Given the description of an element on the screen output the (x, y) to click on. 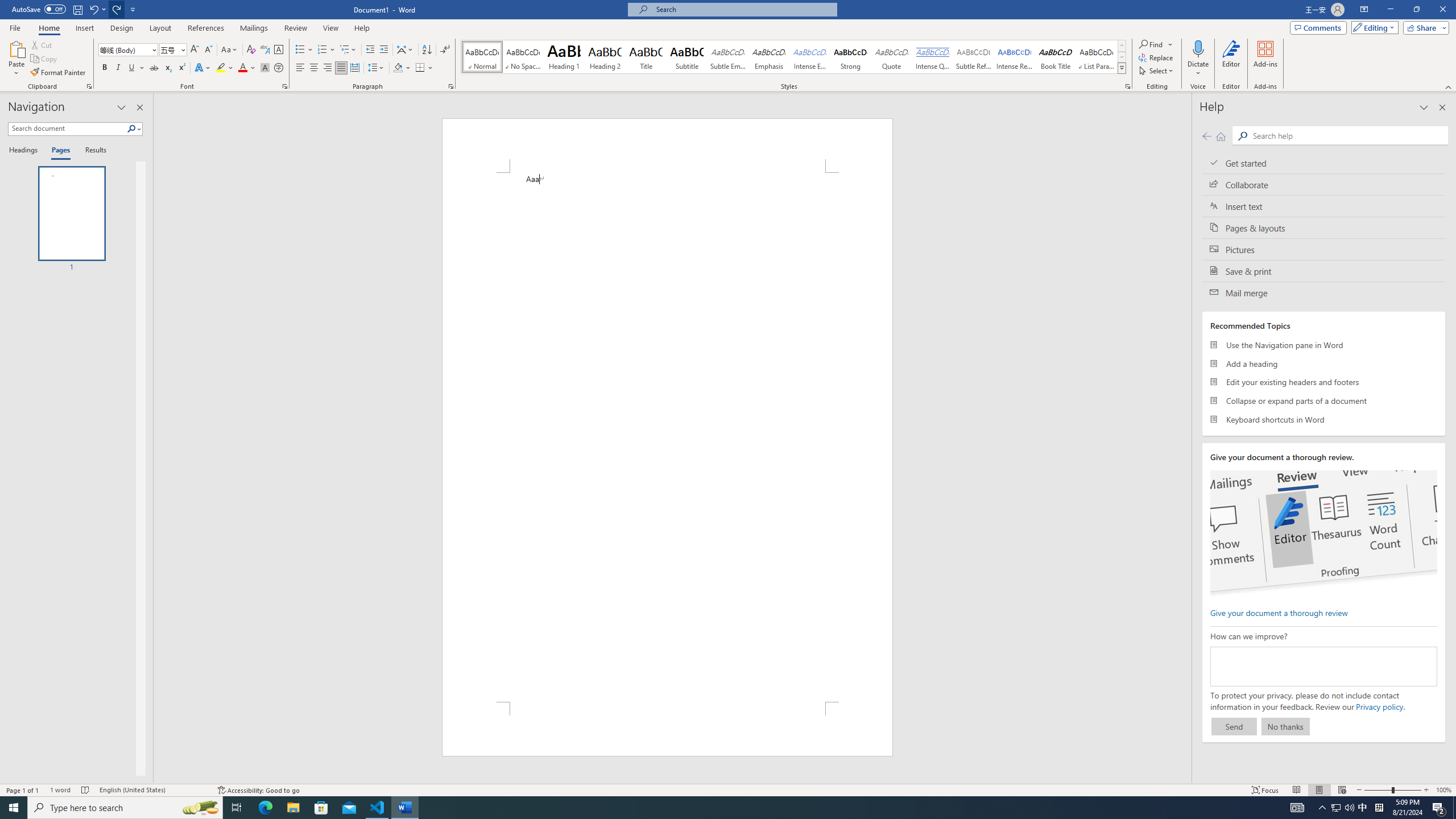
Task Pane Options (121, 107)
Office Clipboard... (88, 85)
Close pane (139, 107)
Text Effects and Typography (202, 67)
Shading RGB(0, 0, 0) (397, 67)
Save (77, 9)
Font Size (172, 49)
Strong (849, 56)
Search (133, 128)
Text Highlight Color Yellow (220, 67)
Book Title (1055, 56)
Justify (340, 67)
Bullets (300, 49)
